Given the description of an element on the screen output the (x, y) to click on. 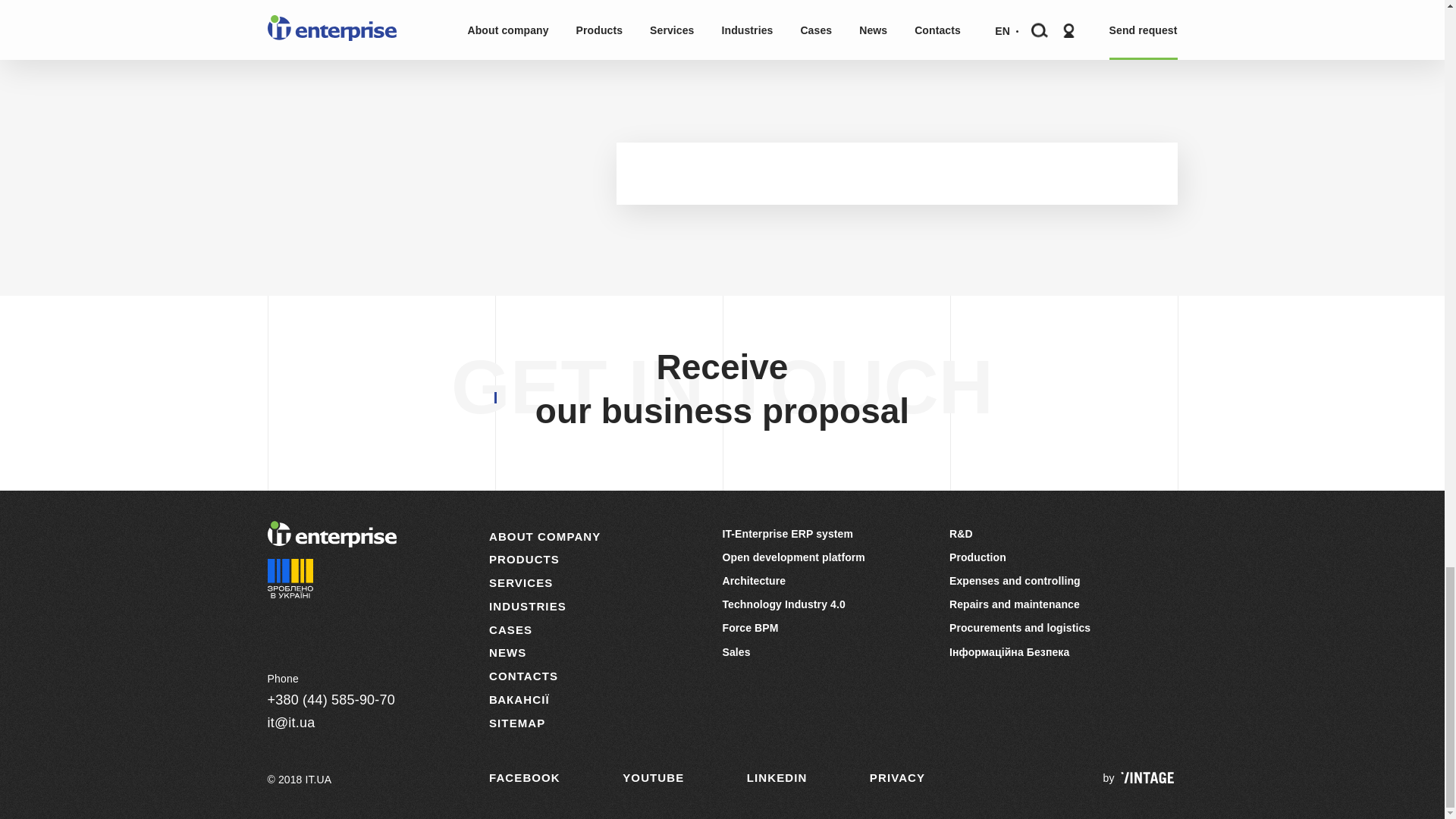
GET IN TOUCH (722, 386)
